Given the description of an element on the screen output the (x, y) to click on. 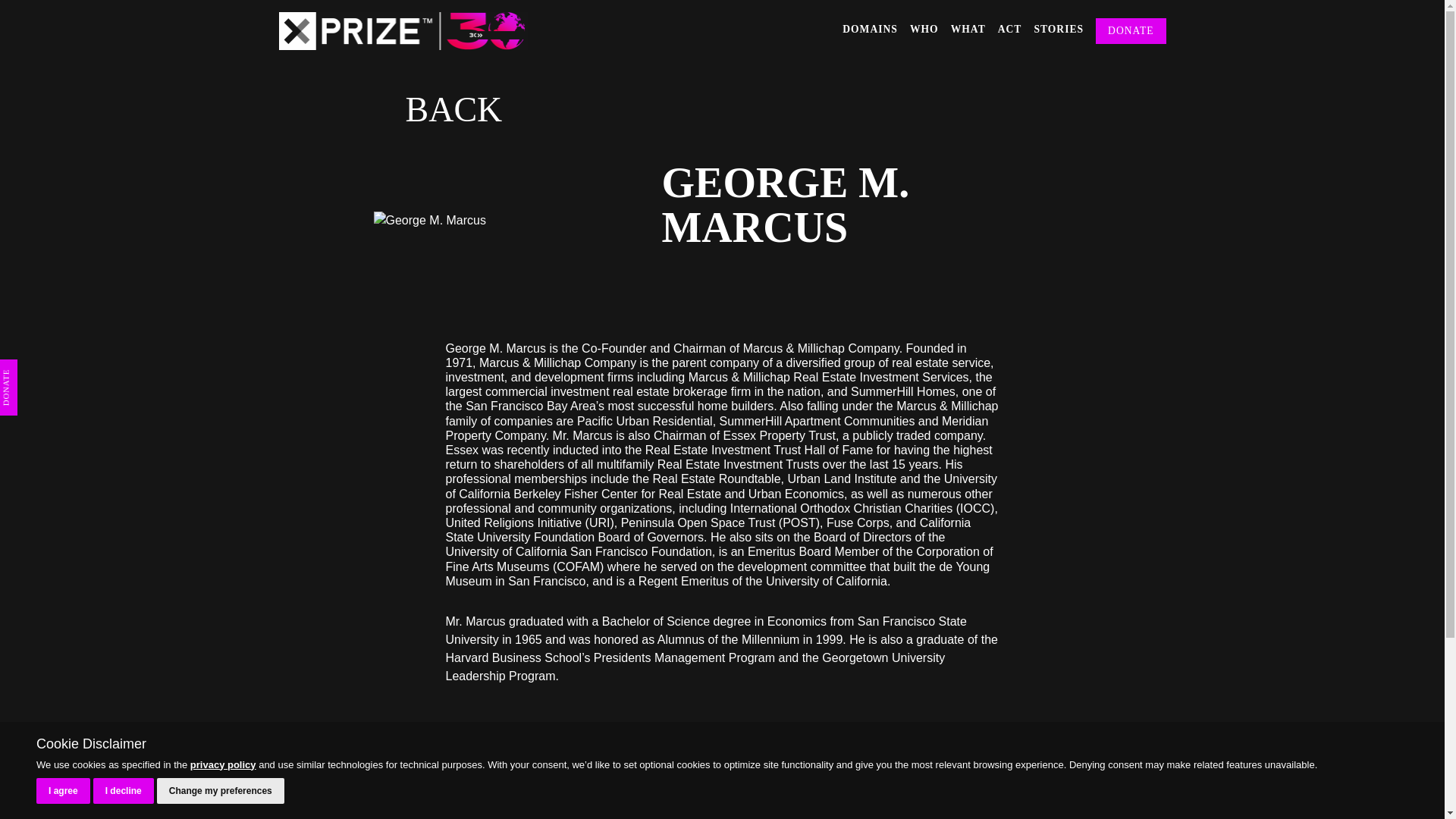
WHAT (967, 30)
Change my preferences (220, 790)
Back (437, 109)
DOMAINS (870, 30)
ACT (1009, 30)
XPRIZE Home (403, 30)
privacy policy (223, 763)
WHO (924, 30)
I agree (63, 790)
STORIES (1058, 30)
I decline (123, 790)
